Given the description of an element on the screen output the (x, y) to click on. 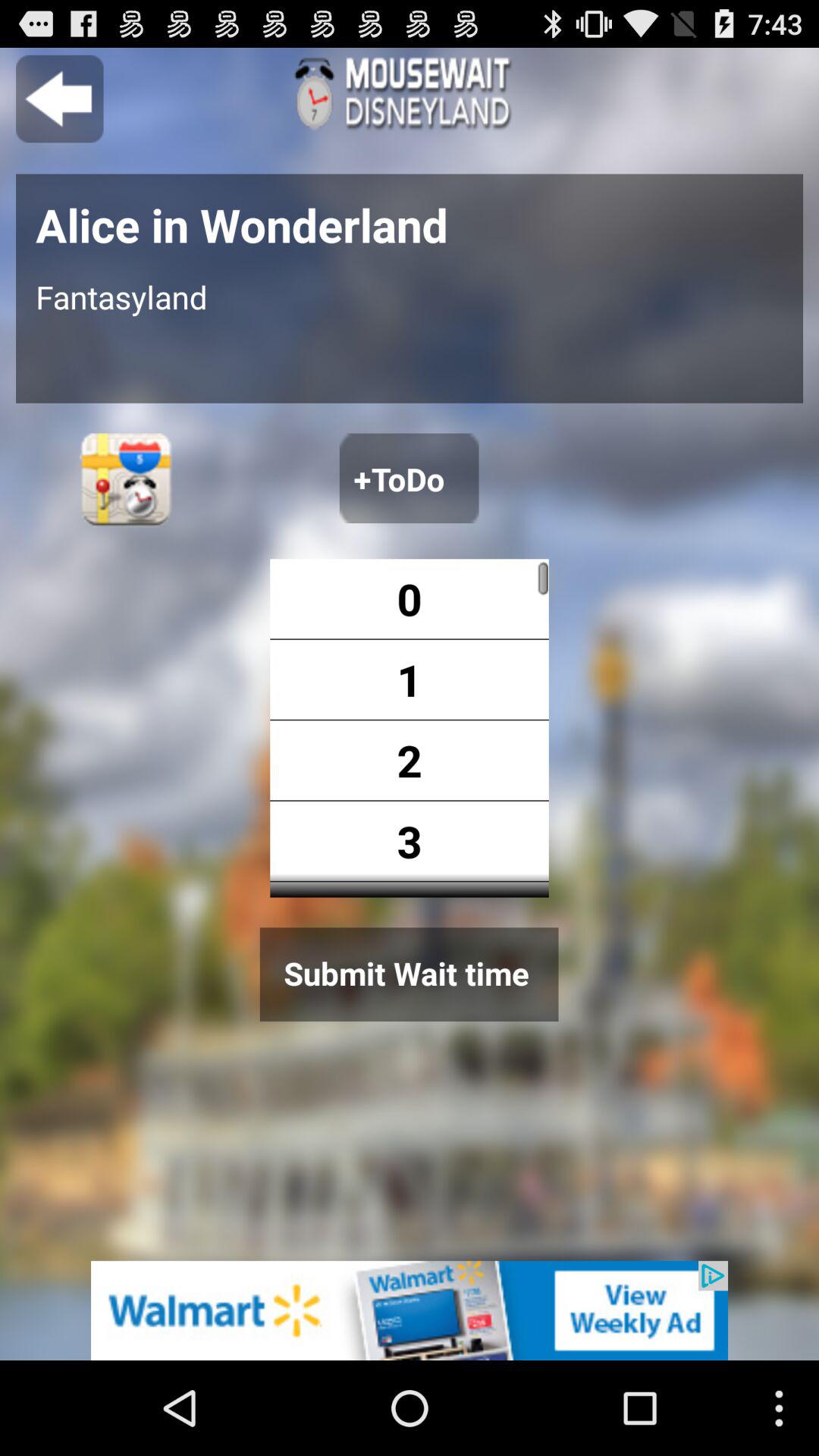
click button on the upper middle screen to go to mousewait disneyland (409, 93)
